Given the description of an element on the screen output the (x, y) to click on. 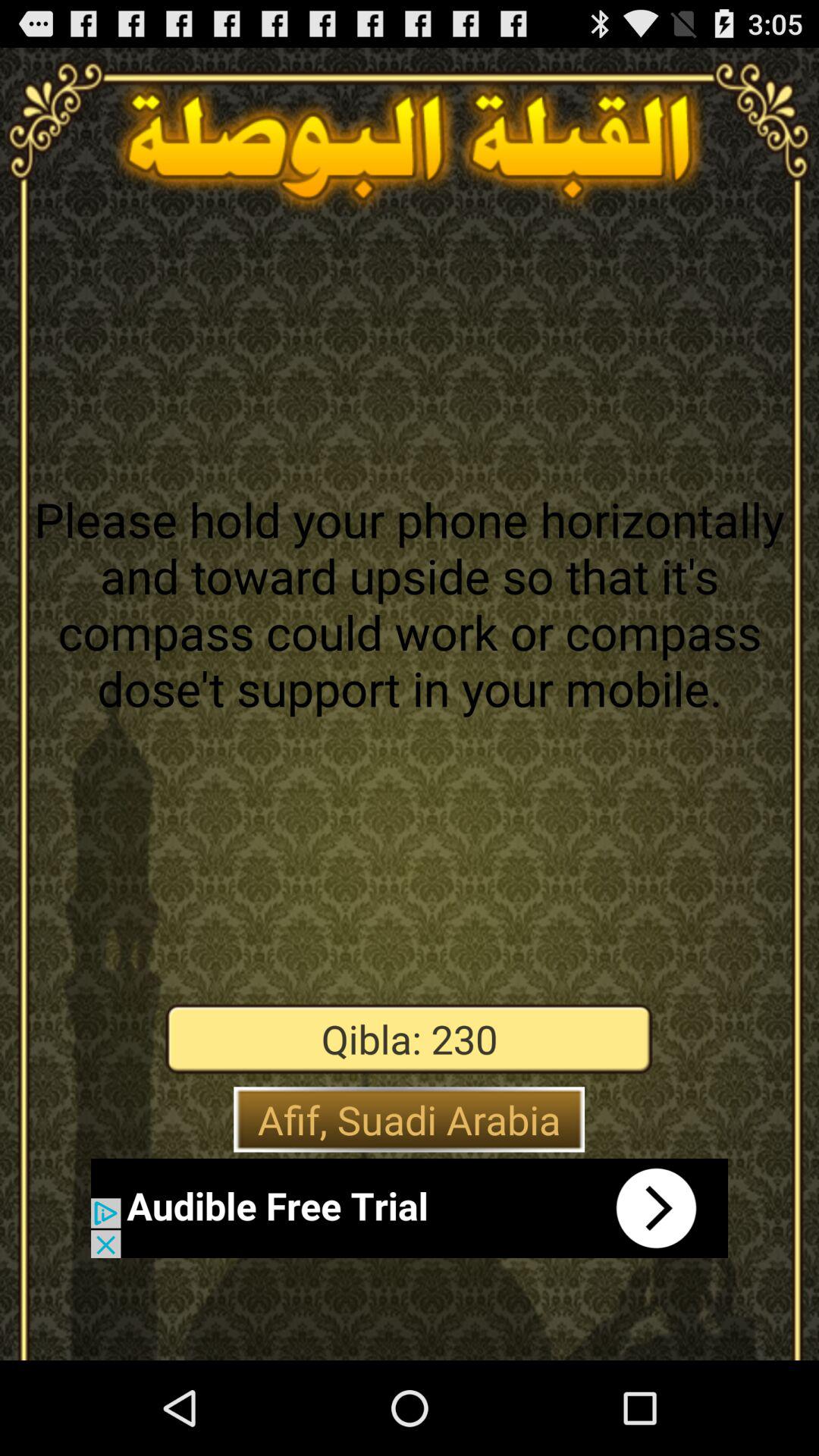
go to app (409, 1208)
